Given the description of an element on the screen output the (x, y) to click on. 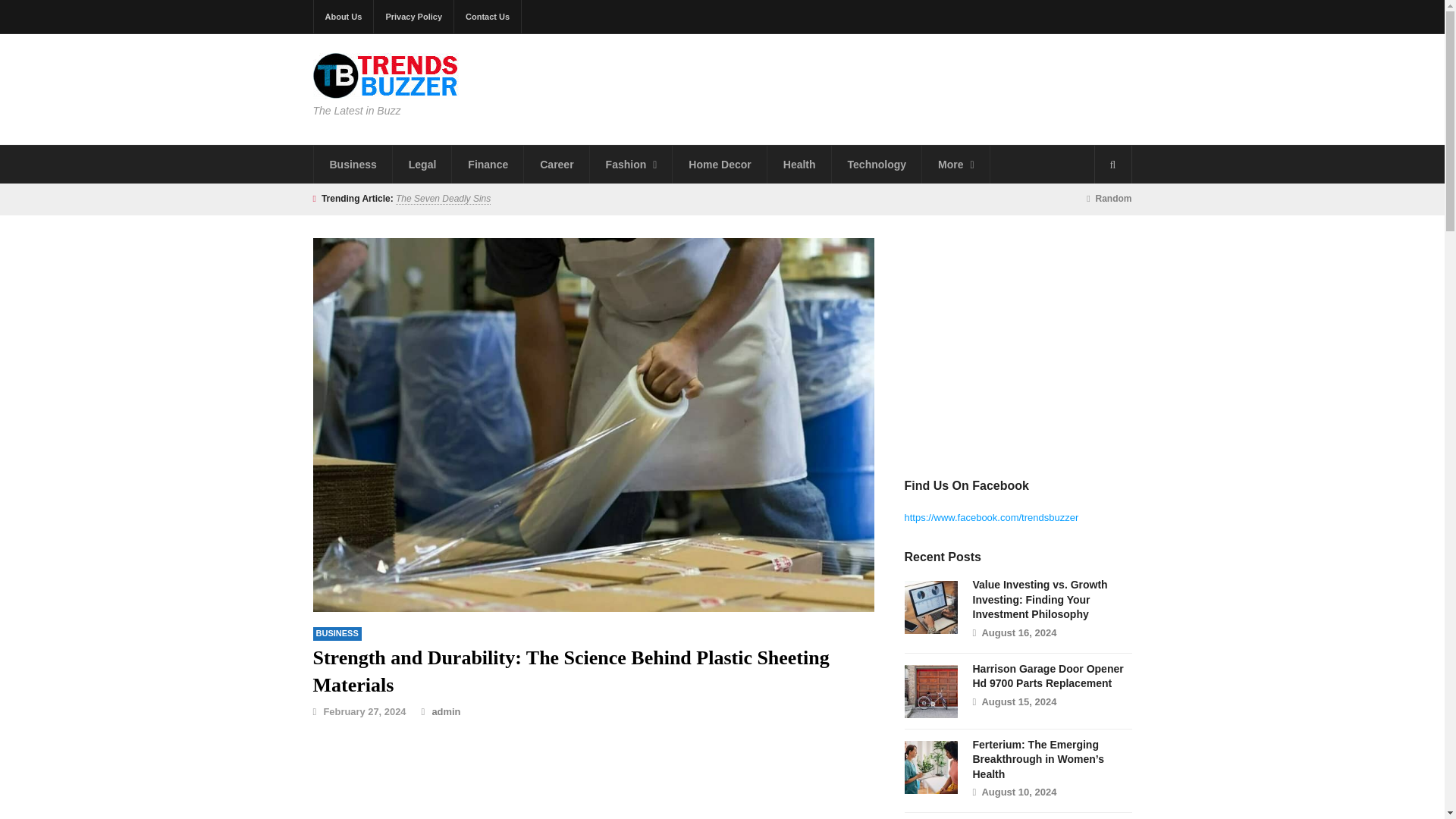
Business (353, 164)
Technology (877, 164)
Legal (422, 164)
Health (799, 164)
Privacy Policy (414, 16)
Search (1112, 164)
Fashion (630, 164)
Business (353, 164)
Home Decor (719, 164)
About Us (344, 16)
